Given the description of an element on the screen output the (x, y) to click on. 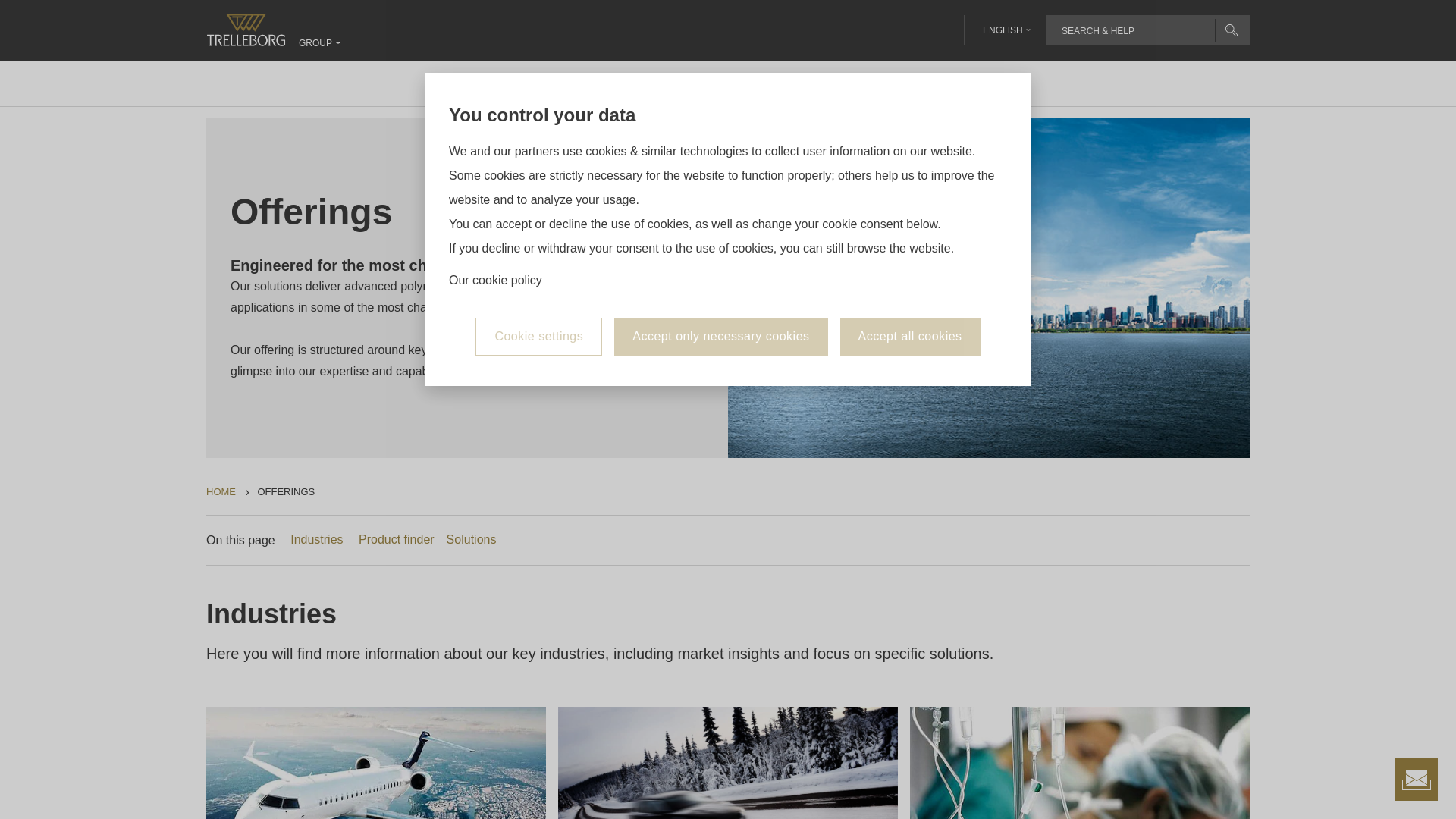
Accept all cookies (909, 336)
Our cookie policy (494, 280)
Cookie settings (539, 336)
Accept only necessary cookies (720, 336)
